Given the description of an element on the screen output the (x, y) to click on. 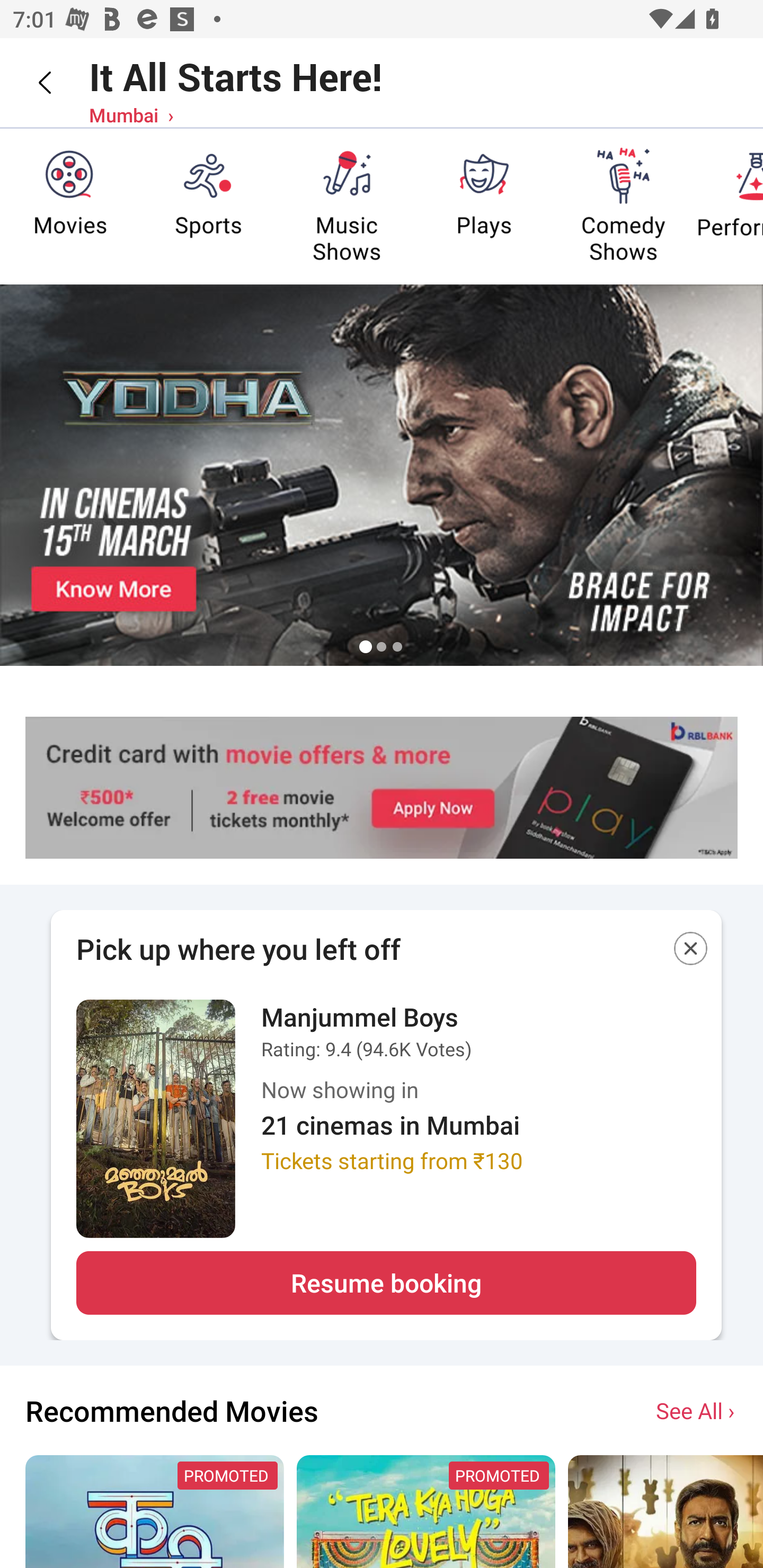
Back (31, 82)
It All Starts Here! (235, 75)
Mumbai  › (131, 114)
  (690, 952)
Resume booking (385, 1283)
See All › (696, 1410)
